Given the description of an element on the screen output the (x, y) to click on. 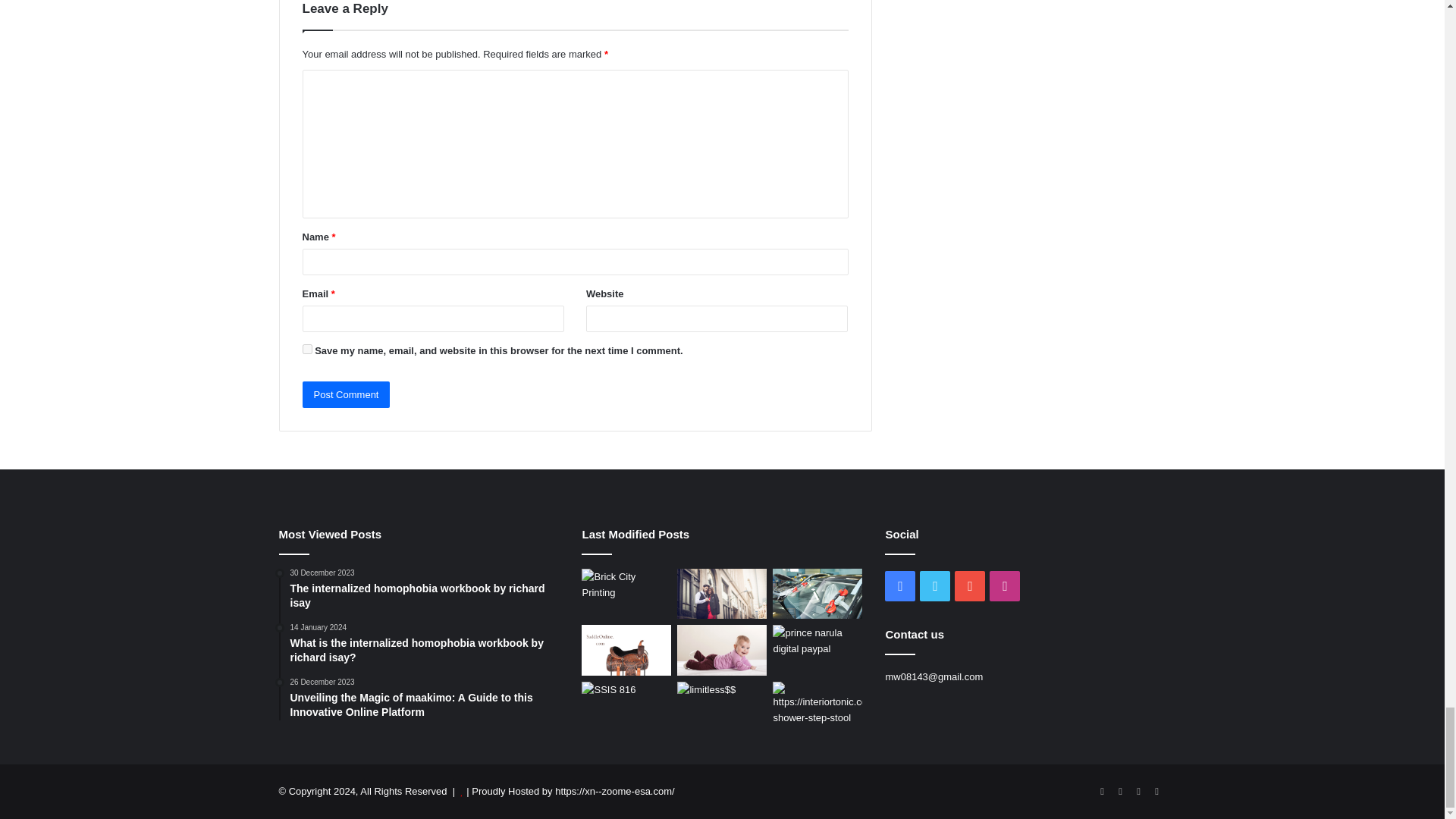
Post Comment (345, 394)
yes (306, 347)
